Given the description of an element on the screen output the (x, y) to click on. 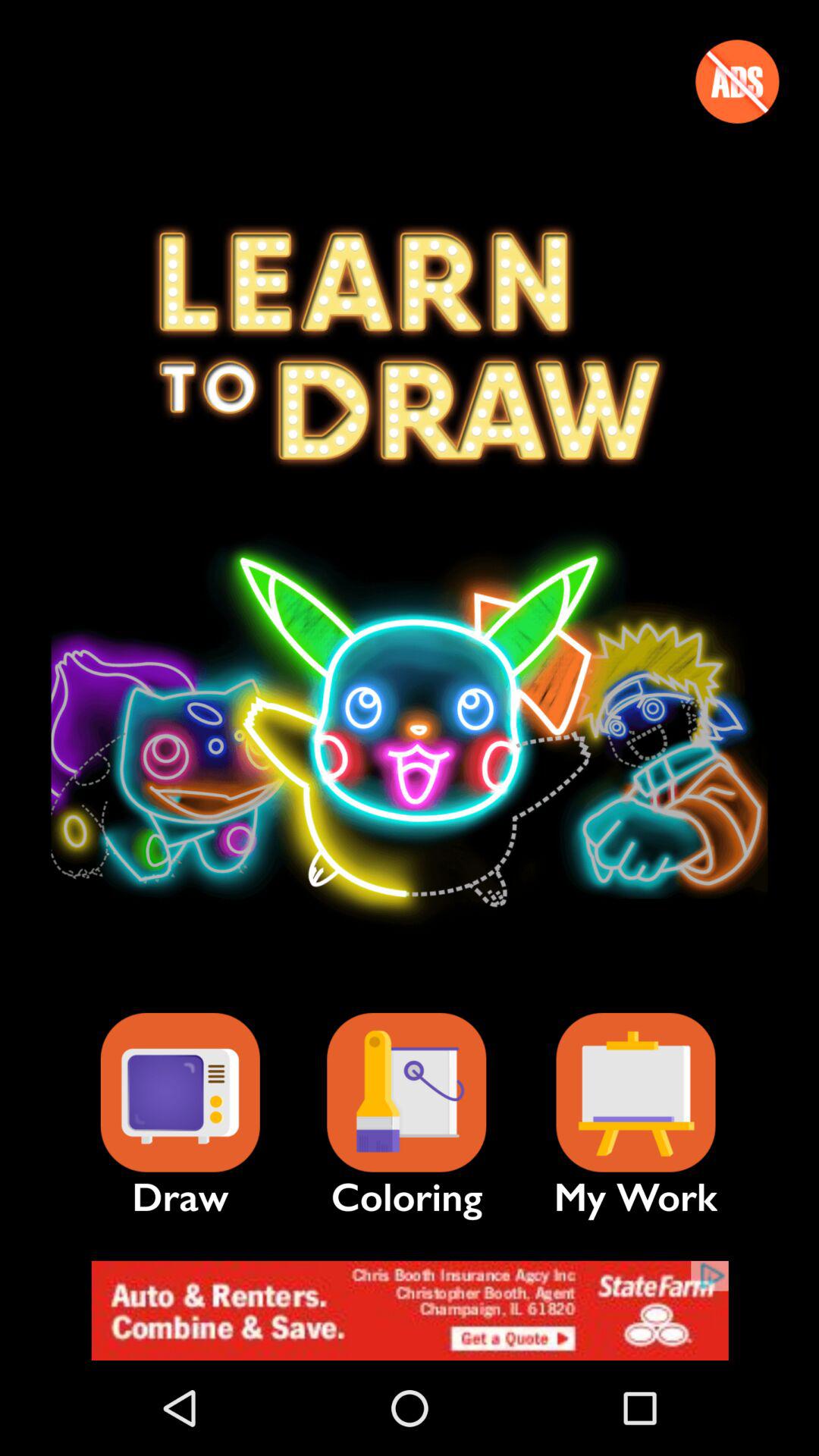
your saved work (635, 1092)
